Given the description of an element on the screen output the (x, y) to click on. 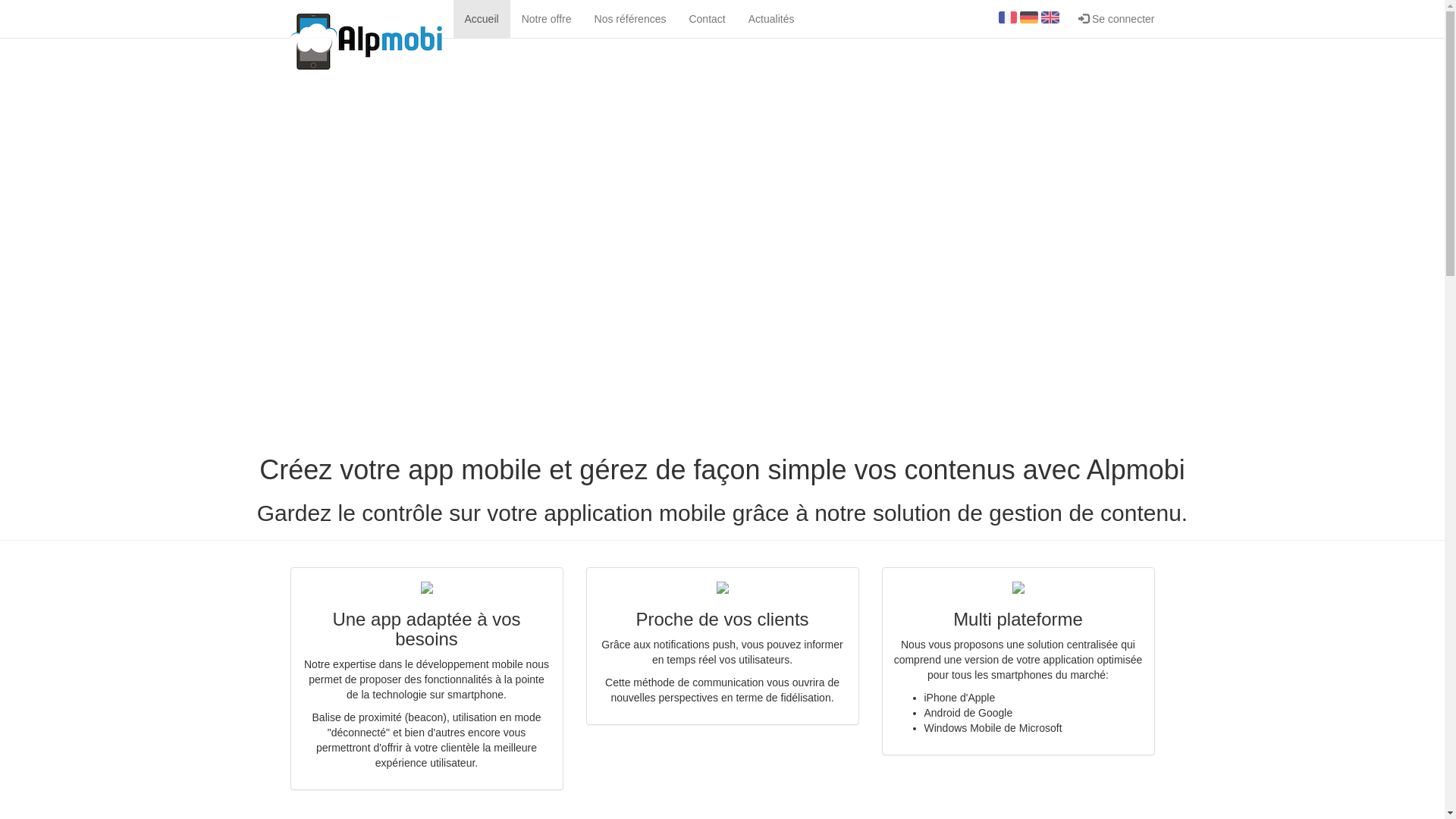
Notre offre Element type: text (546, 18)
English Element type: hover (1050, 16)
Contact Element type: text (706, 18)
Se connecter Element type: text (1115, 18)
Accueil Element type: text (481, 18)
Deutsch Element type: hover (1028, 16)
